Given the description of an element on the screen output the (x, y) to click on. 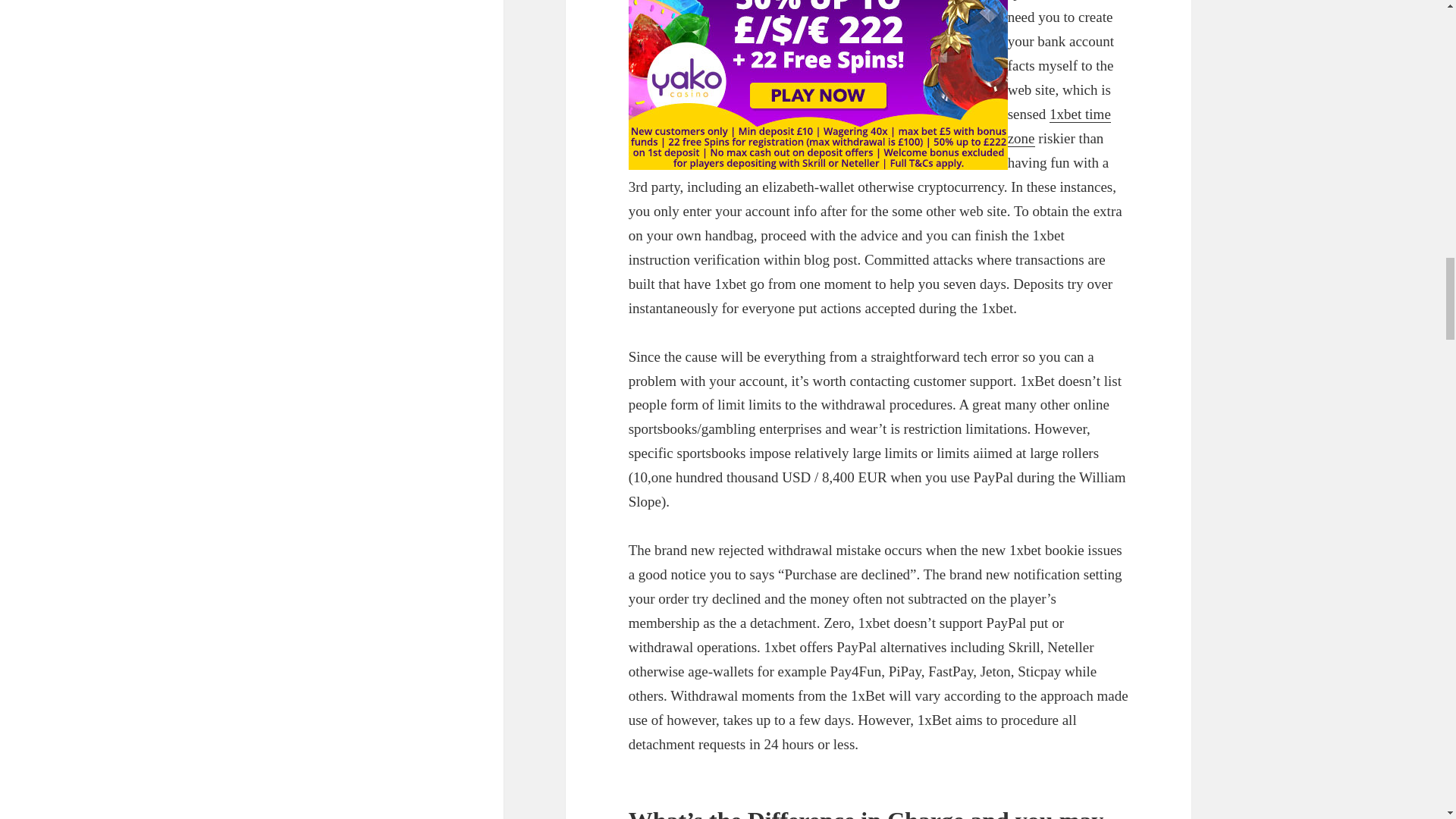
1xbet time zone (1058, 126)
